Given the description of an element on the screen output the (x, y) to click on. 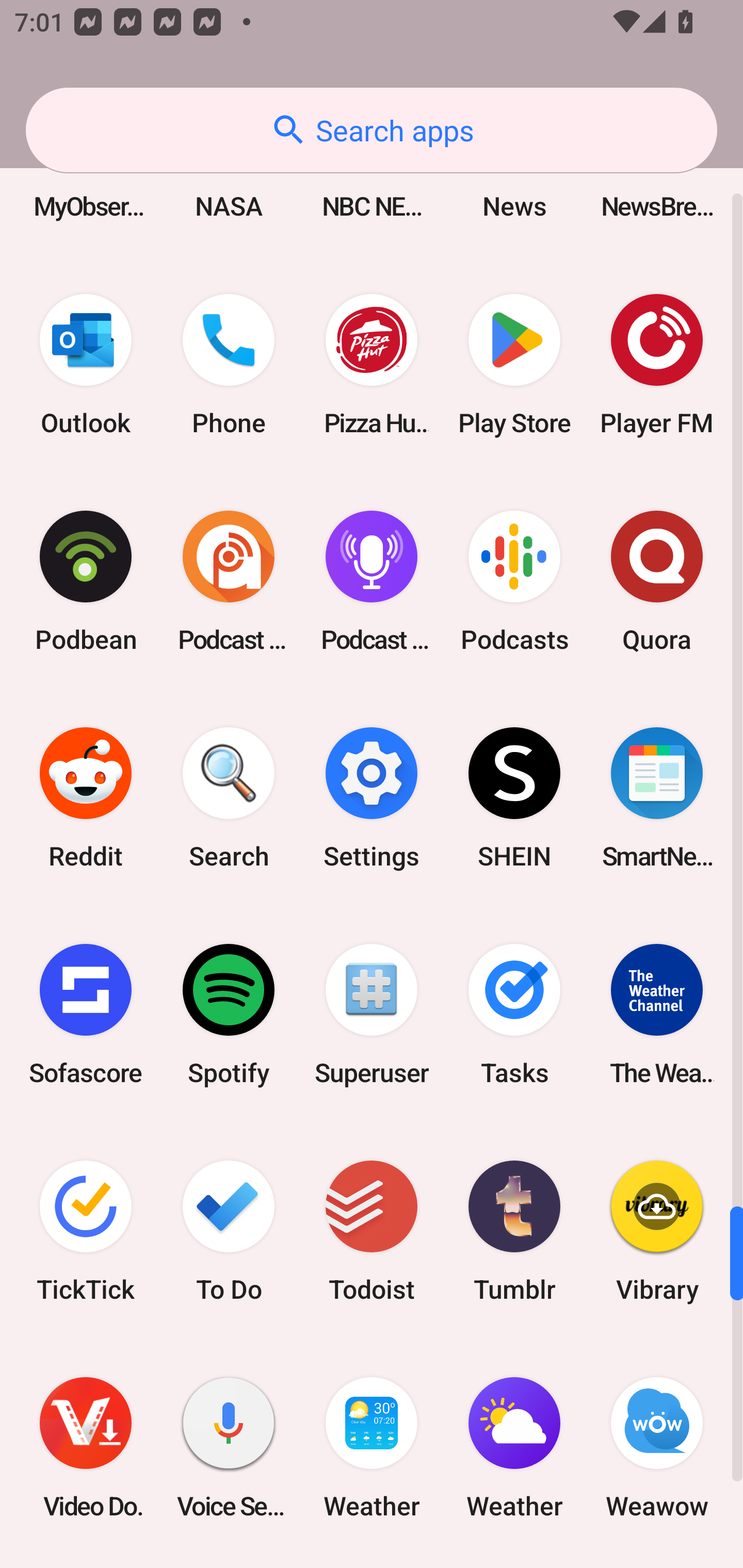
  Search apps (371, 130)
Outlook (85, 364)
Phone (228, 364)
Pizza Hut HK & Macau (371, 364)
Play Store (514, 364)
Player FM (656, 364)
Podbean (85, 581)
Podcast Addict (228, 581)
Podcast Player (371, 581)
Podcasts (514, 581)
Quora (656, 581)
Reddit (85, 797)
Search (228, 797)
Settings (371, 797)
SHEIN (514, 797)
SmartNews (656, 797)
Sofascore (85, 1014)
Spotify (228, 1014)
Superuser (371, 1014)
Tasks (514, 1014)
The Weather Channel (656, 1014)
TickTick (85, 1230)
To Do (228, 1230)
Todoist (371, 1230)
Tumblr (514, 1230)
Vibrary (656, 1230)
Video Downloader & Ace Player (85, 1447)
Voice Search (228, 1447)
Weather (371, 1447)
Weather (514, 1447)
Weawow (656, 1447)
